Given the description of an element on the screen output the (x, y) to click on. 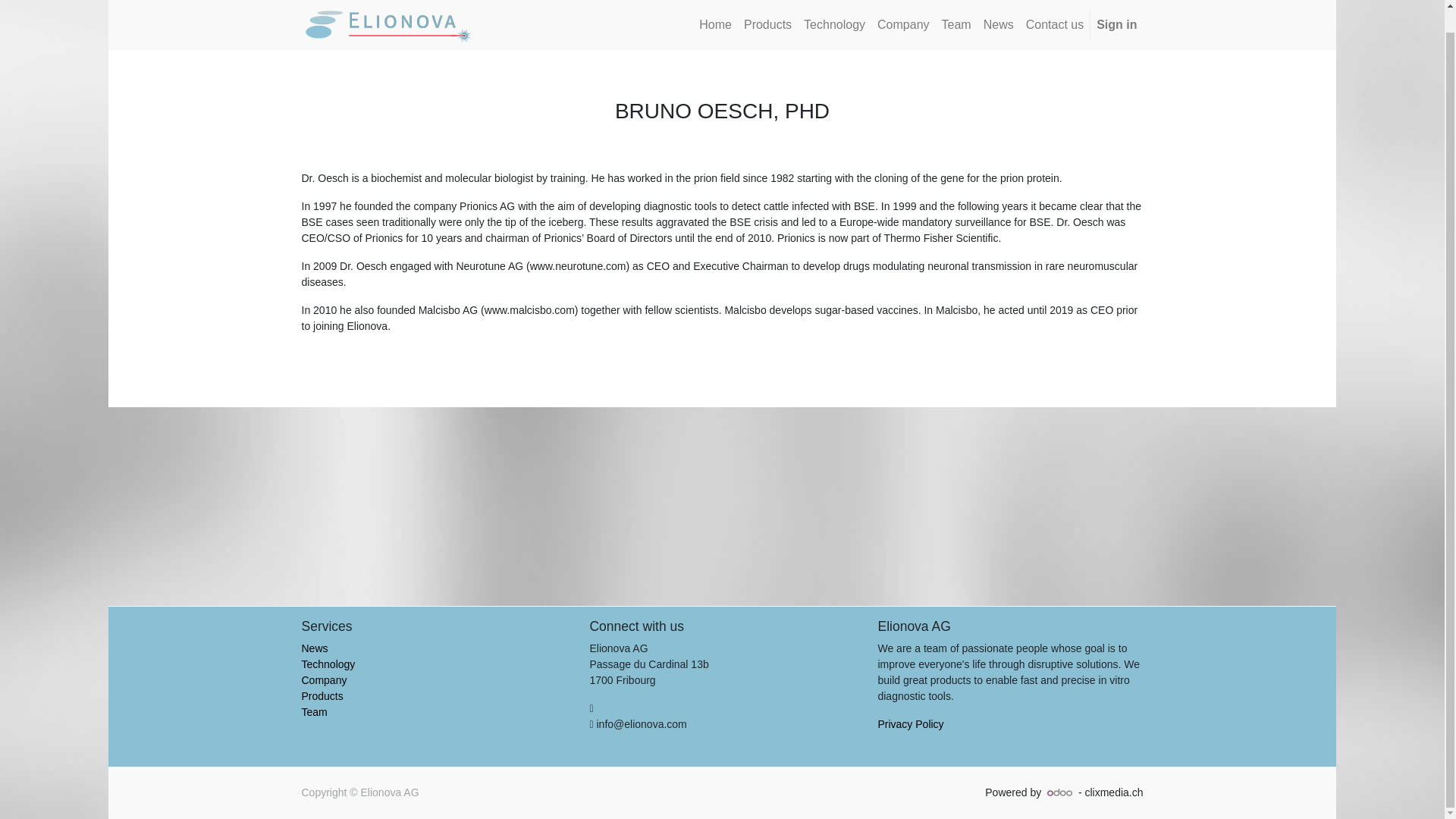
Technology (833, 24)
Team (956, 24)
Home (715, 24)
elionova.com (389, 24)
Sign in (1116, 24)
Privacy Policy (910, 724)
Company (324, 680)
Products (322, 695)
Team (314, 711)
Contact us (1054, 24)
